Given the description of an element on the screen output the (x, y) to click on. 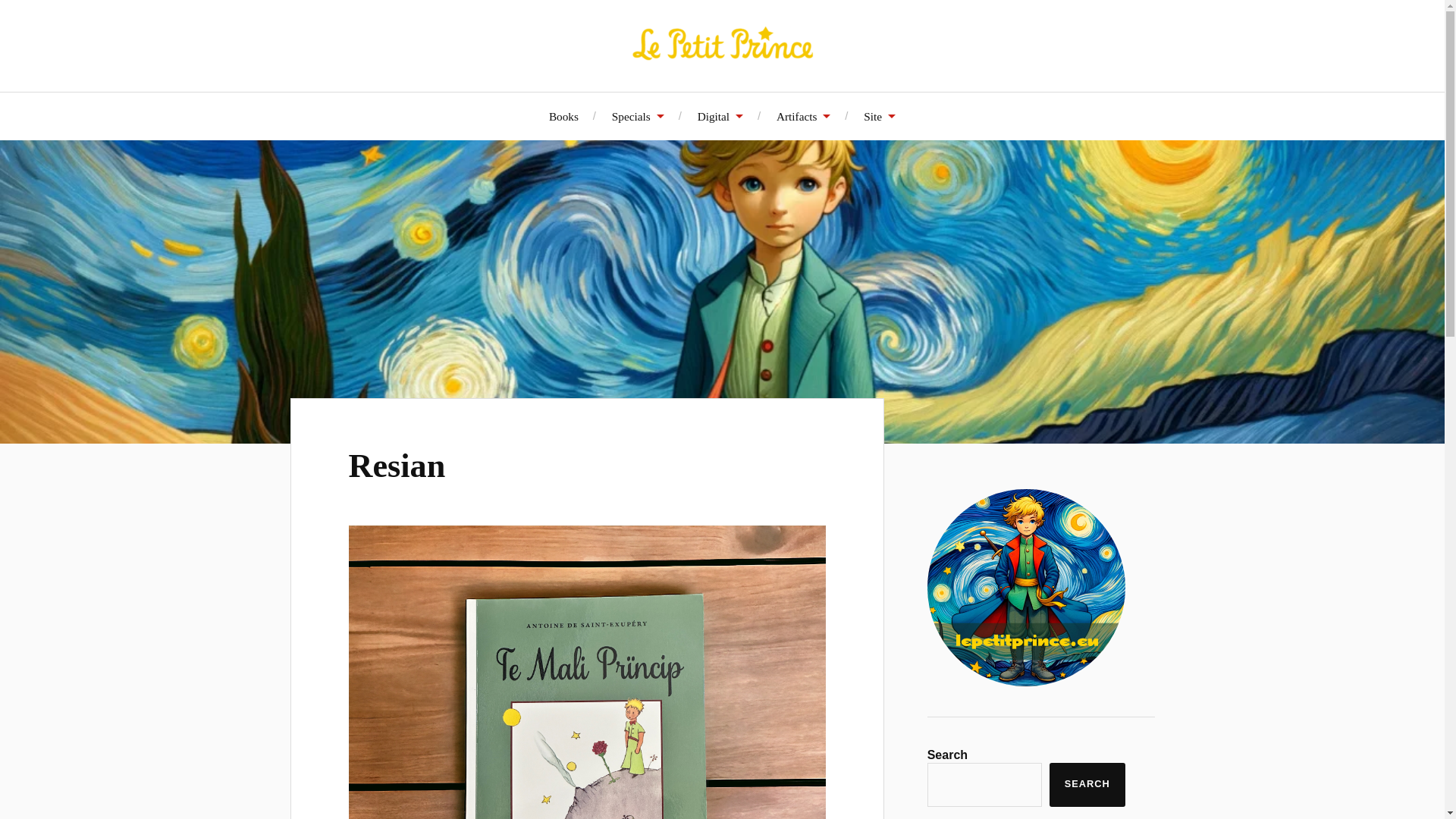
Specials (637, 116)
